Given the description of an element on the screen output the (x, y) to click on. 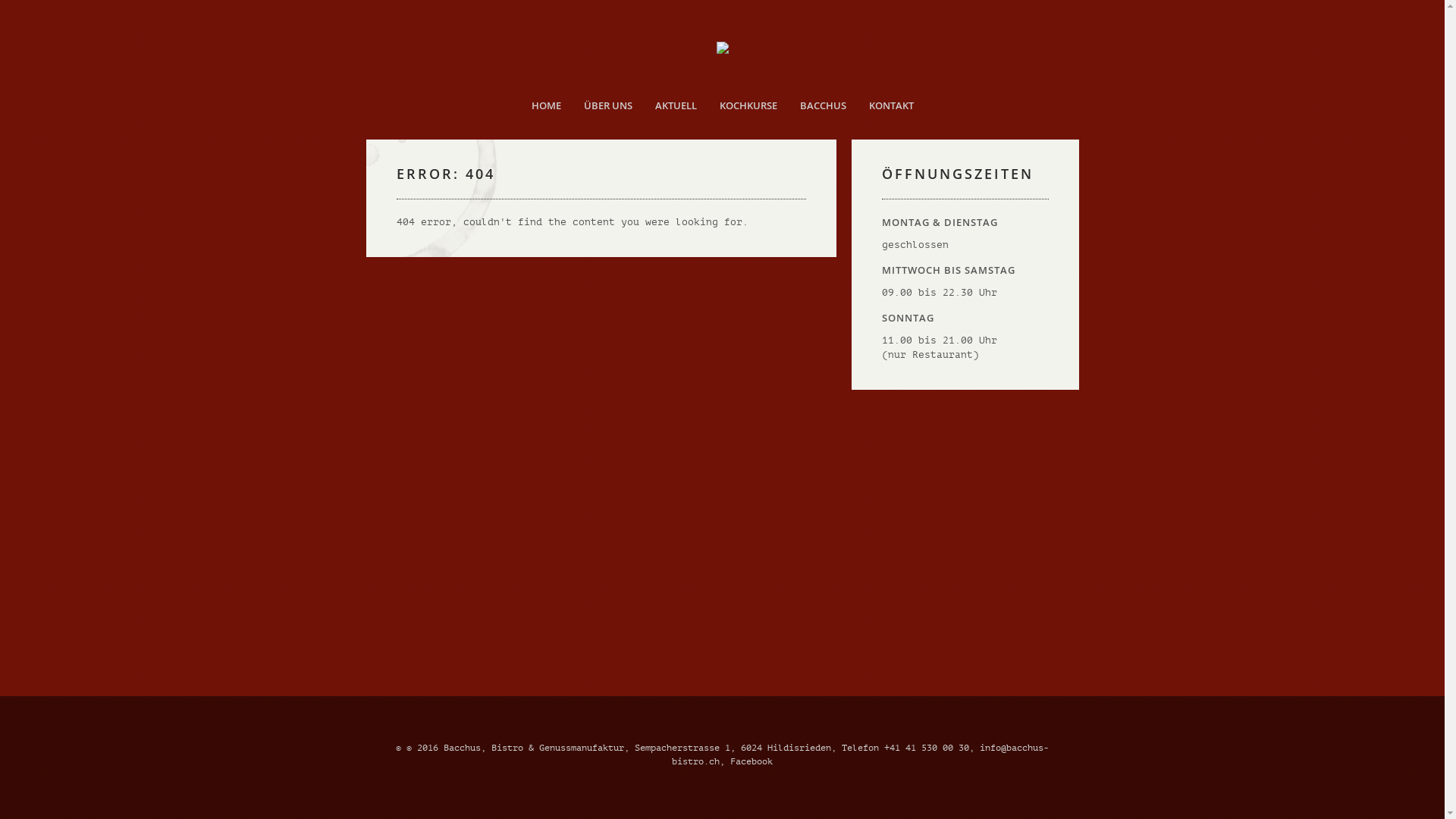
AKTUELL Element type: text (675, 105)
KONTAKT Element type: text (890, 105)
info@bacchus-bistro.ch Element type: text (859, 754)
HOME Element type: text (546, 105)
Facebook Element type: text (751, 761)
BACCHUS Element type: text (822, 105)
KOCHKURSE Element type: text (748, 105)
